Given the description of an element on the screen output the (x, y) to click on. 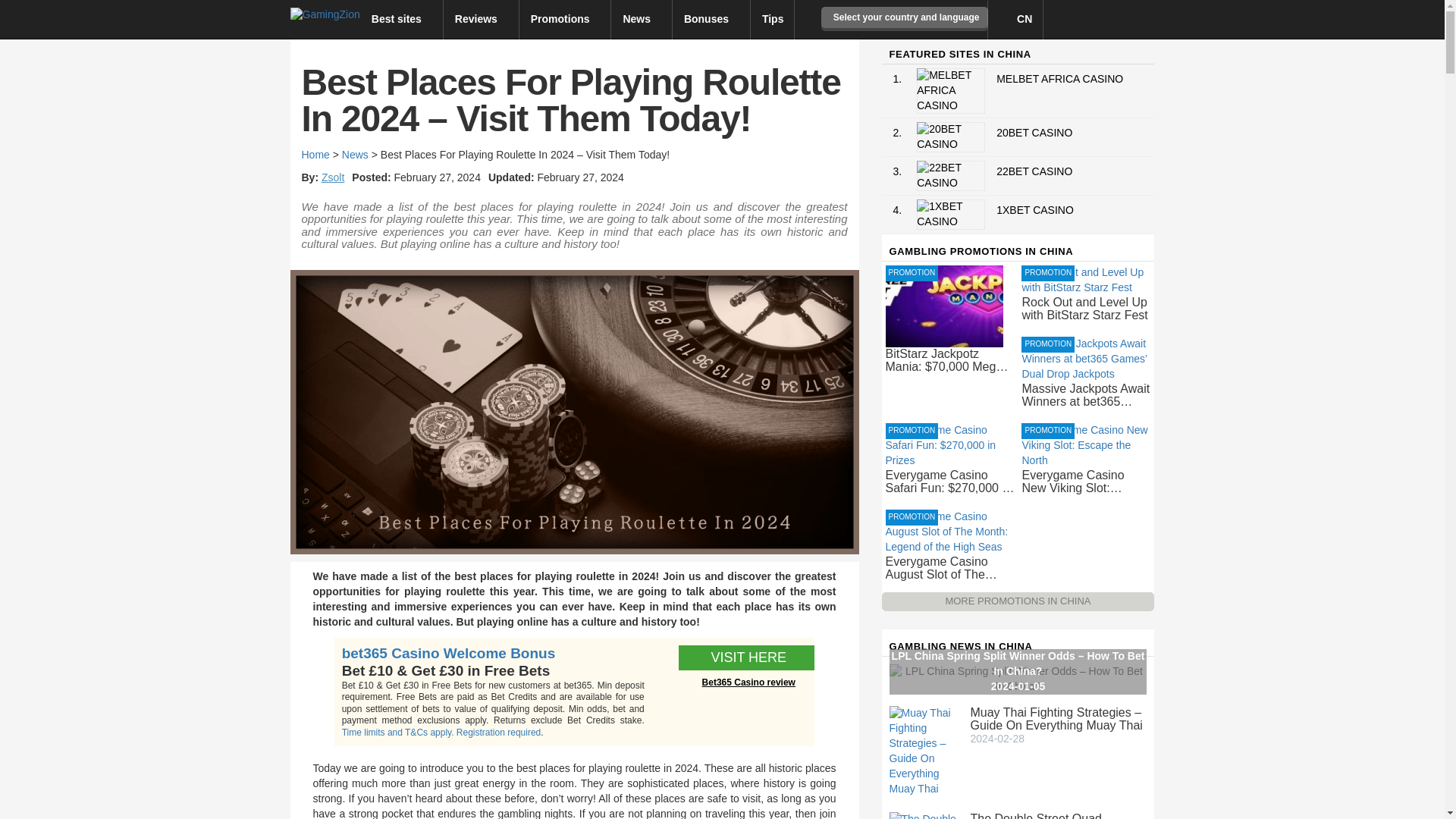
Best sites (401, 18)
Bonuses (711, 18)
Reviews (481, 18)
News (641, 18)
Promotions (565, 18)
Best sites (401, 18)
Reviews (481, 18)
